Given the description of an element on the screen output the (x, y) to click on. 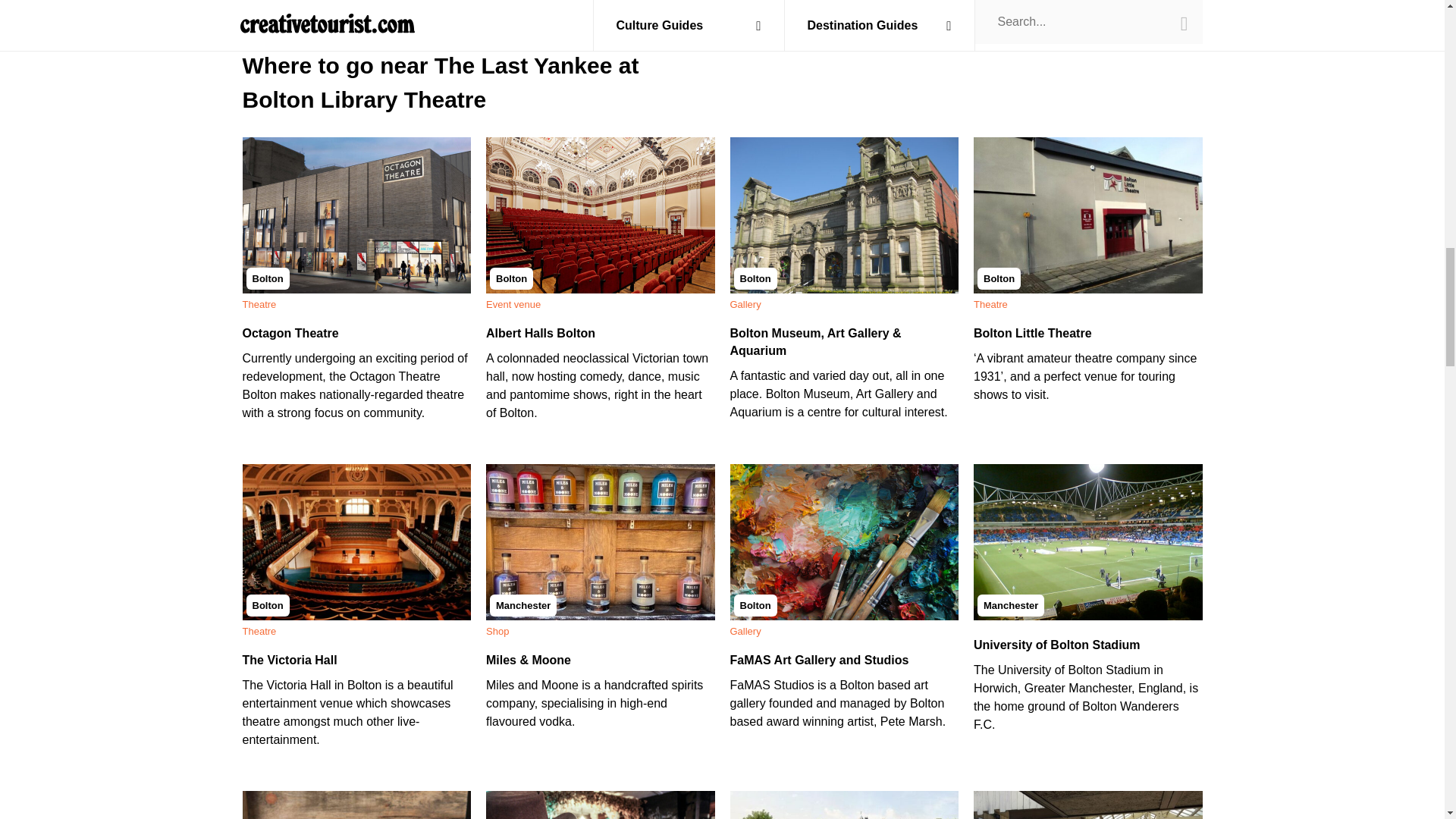
Bolton (357, 215)
Bolton (843, 215)
Octagon Theatre (291, 333)
Albert Halls Bolton (540, 333)
Bolton (600, 215)
